Given the description of an element on the screen output the (x, y) to click on. 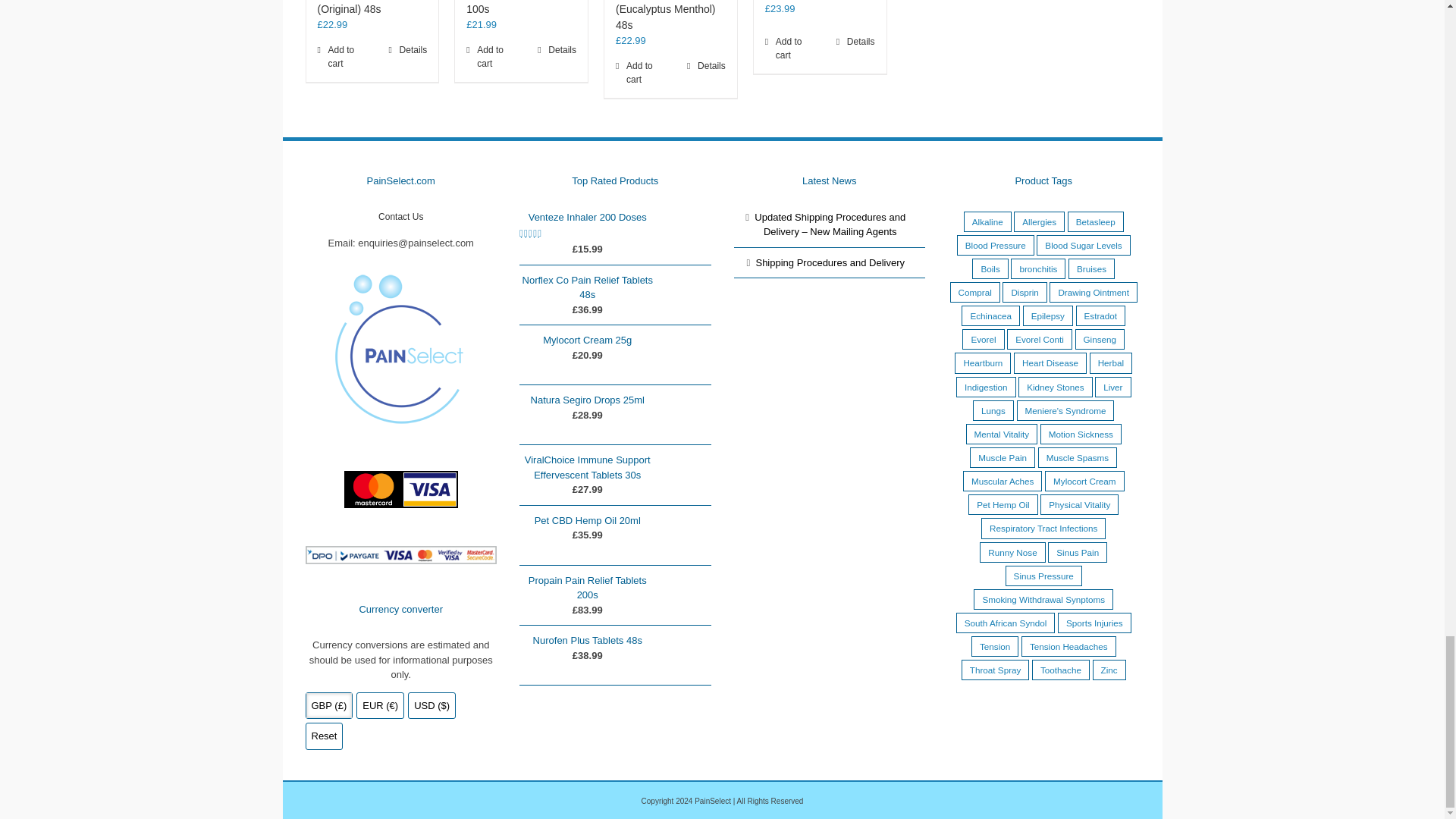
Original price:23.99 (779, 8)
Payments secured by DPO PayGate (400, 555)
Original price:22.99 (332, 24)
Mastercard and Visa Accepted (400, 488)
Original price:22.99 (630, 40)
Original price:21.99 (480, 24)
